Given the description of an element on the screen output the (x, y) to click on. 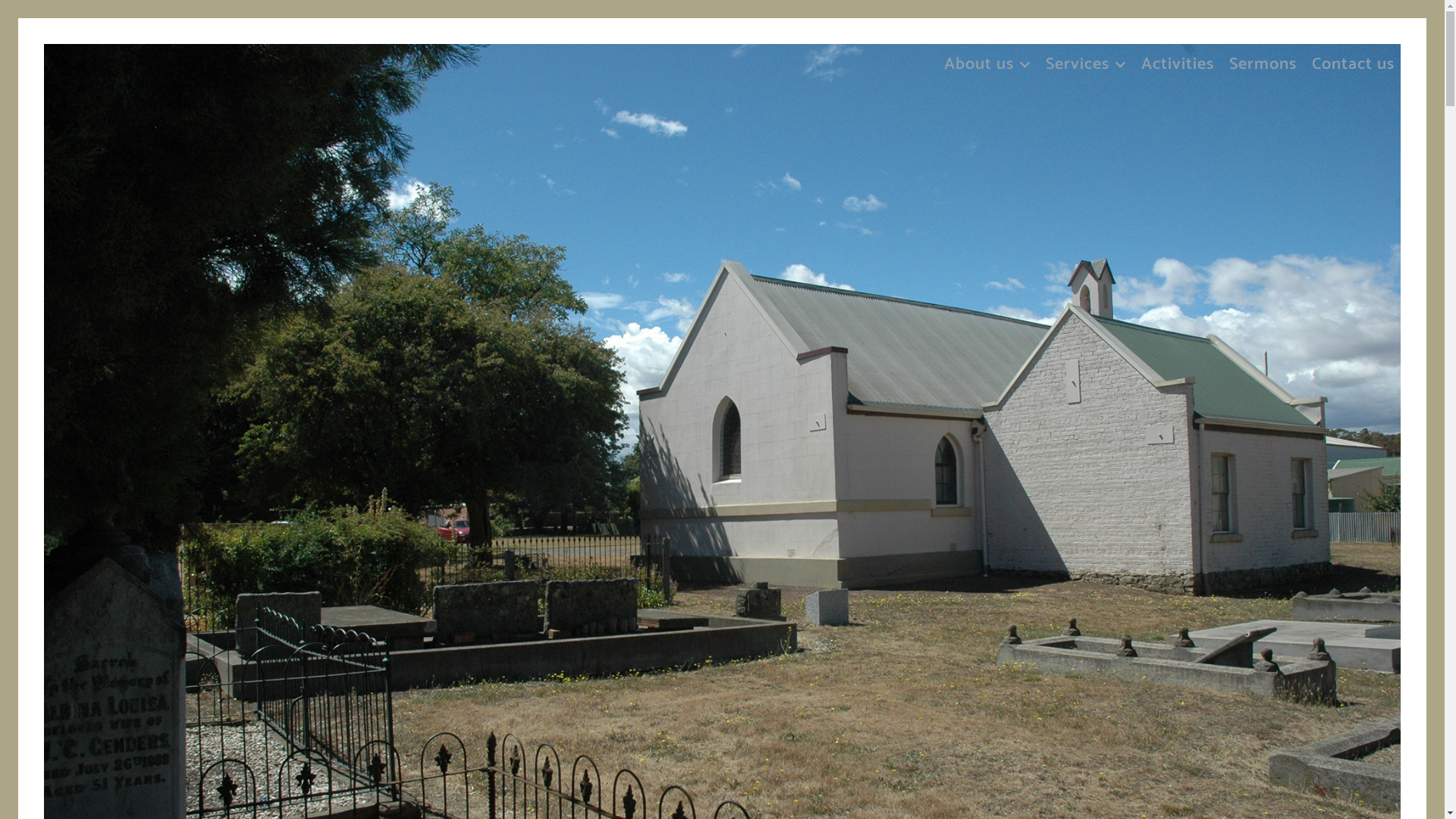
Services Element type: text (1085, 59)
Activities Element type: text (1177, 59)
About us Element type: text (987, 59)
Contact us Element type: text (1352, 59)
Sermons Element type: text (1262, 59)
